Given the description of an element on the screen output the (x, y) to click on. 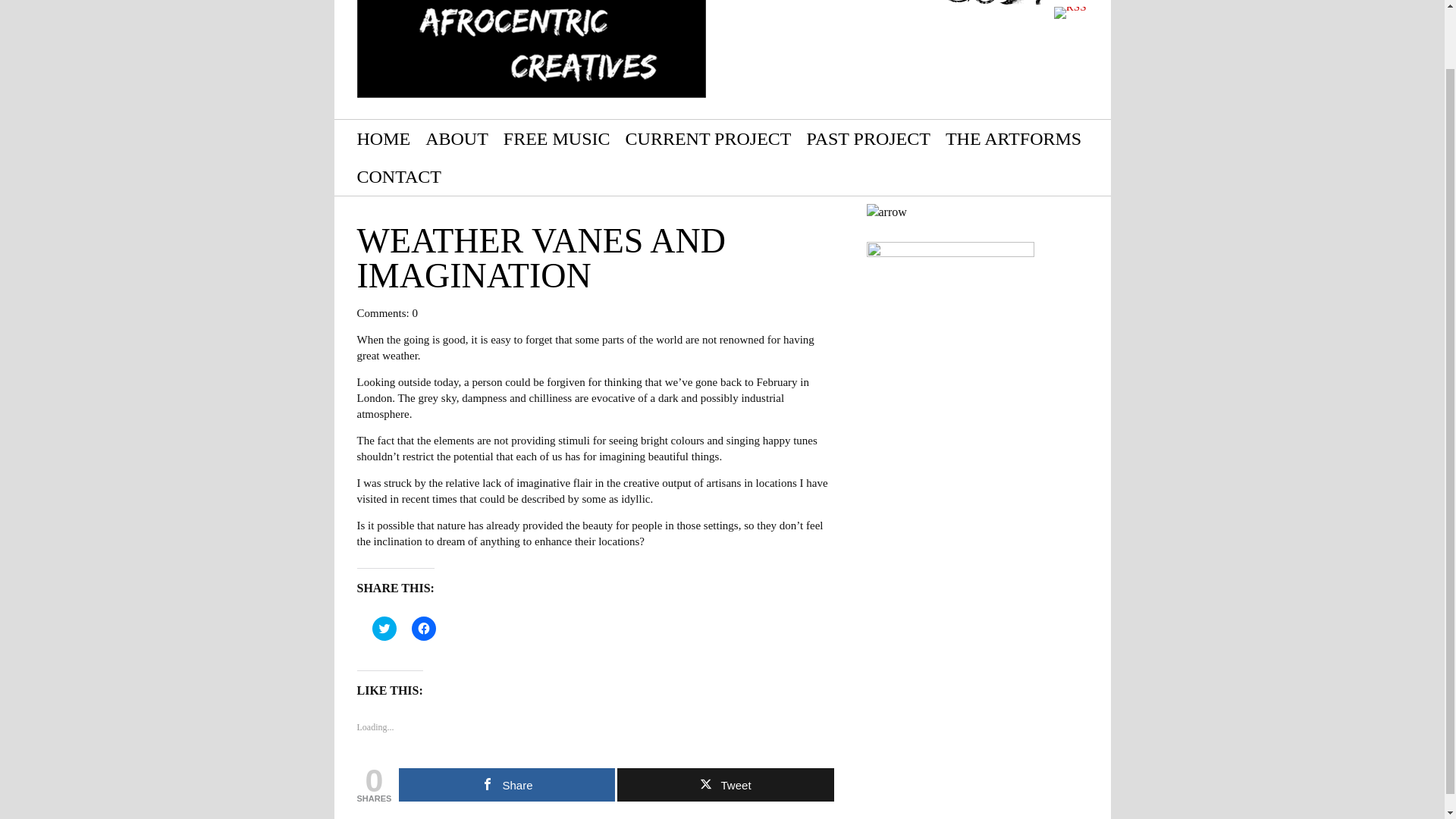
CURRENT PROJECT (708, 138)
Click to share on Facebook (422, 628)
CONTACT (398, 176)
PAST PROJECT (867, 138)
THE ARTFORMS (1013, 138)
ABOUT (456, 138)
Permanent Link to Weather vanes and imagination (540, 257)
HOME (383, 138)
FREE MUSIC (556, 138)
Click to share on Twitter (383, 628)
